Given the description of an element on the screen output the (x, y) to click on. 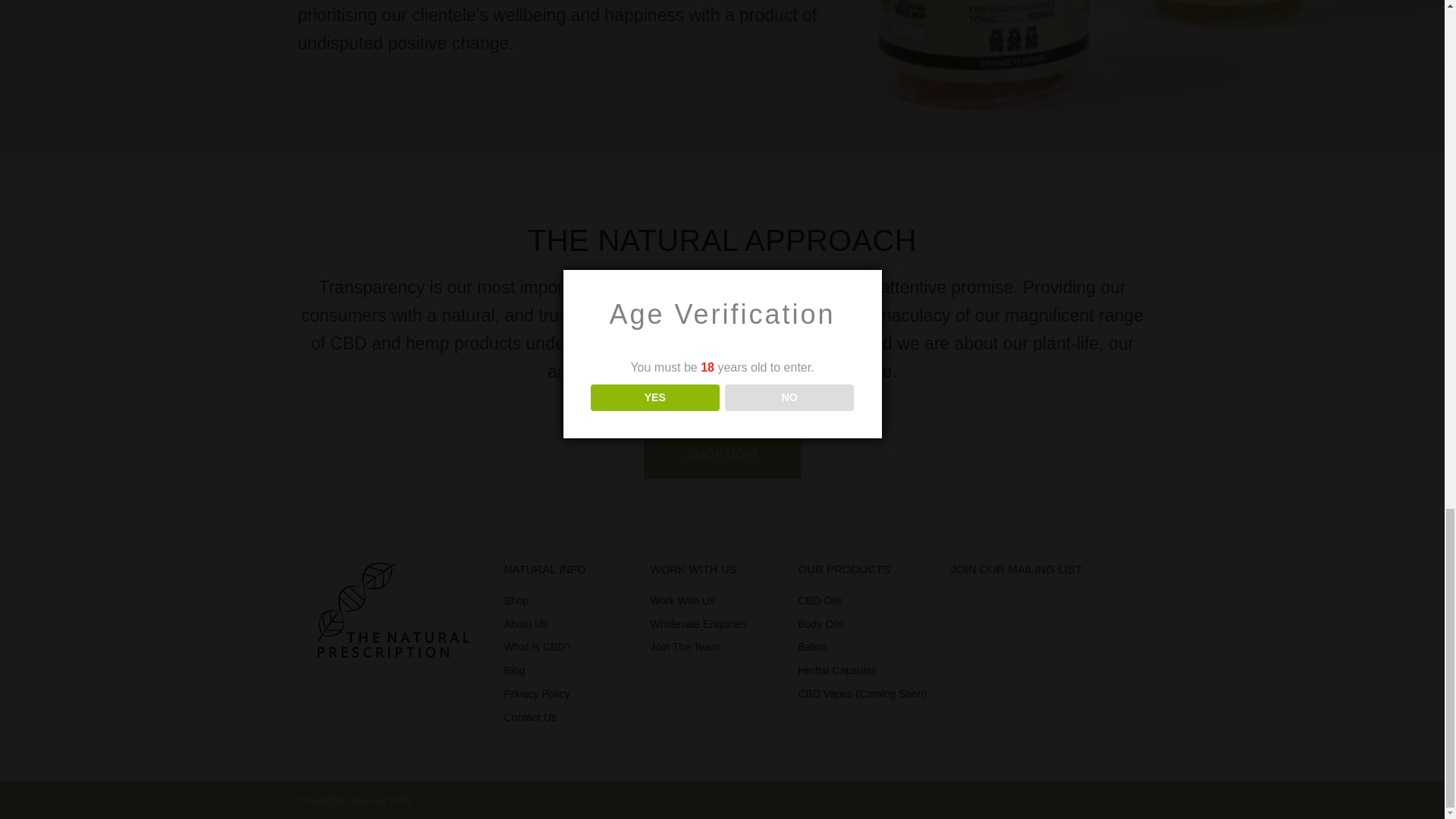
SHOP NOW (721, 454)
